Given the description of an element on the screen output the (x, y) to click on. 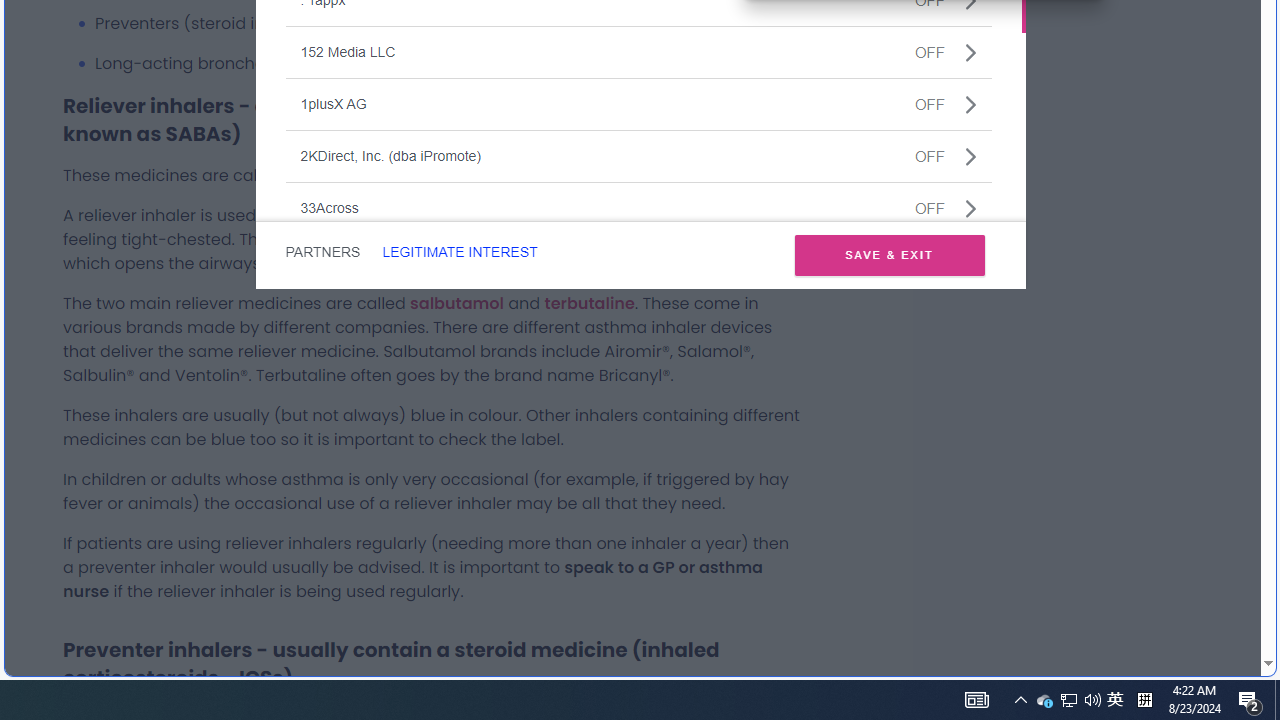
Class: css-jswnc6 (969, 208)
salbutamol (1115, 699)
1plusX AGOFF (1044, 699)
Long-acting bronchodilators. (456, 302)
SAVE & EXIT (638, 103)
